Given the description of an element on the screen output the (x, y) to click on. 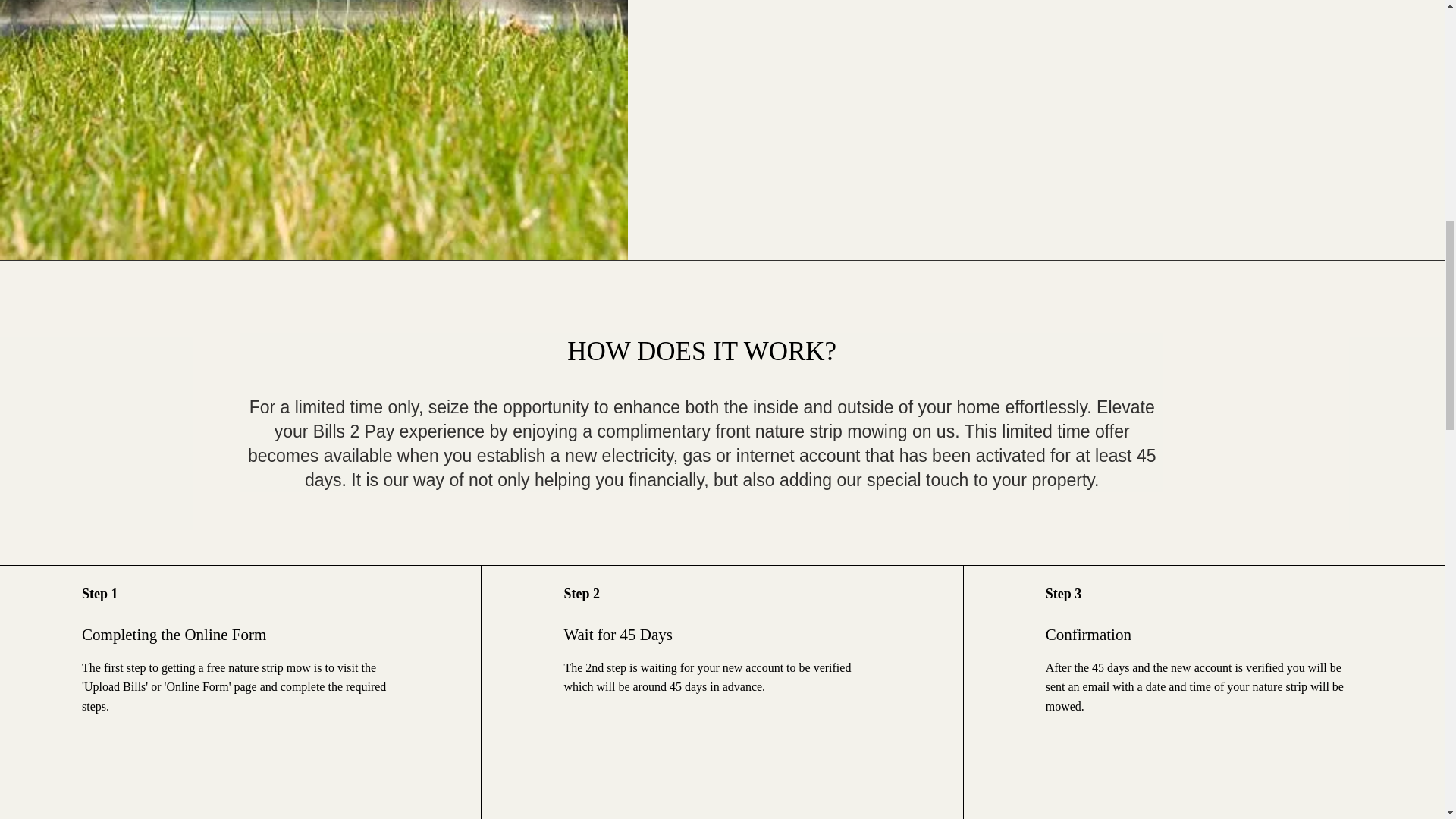
Upload Bills (114, 686)
Online Form (196, 686)
